Given the description of an element on the screen output the (x, y) to click on. 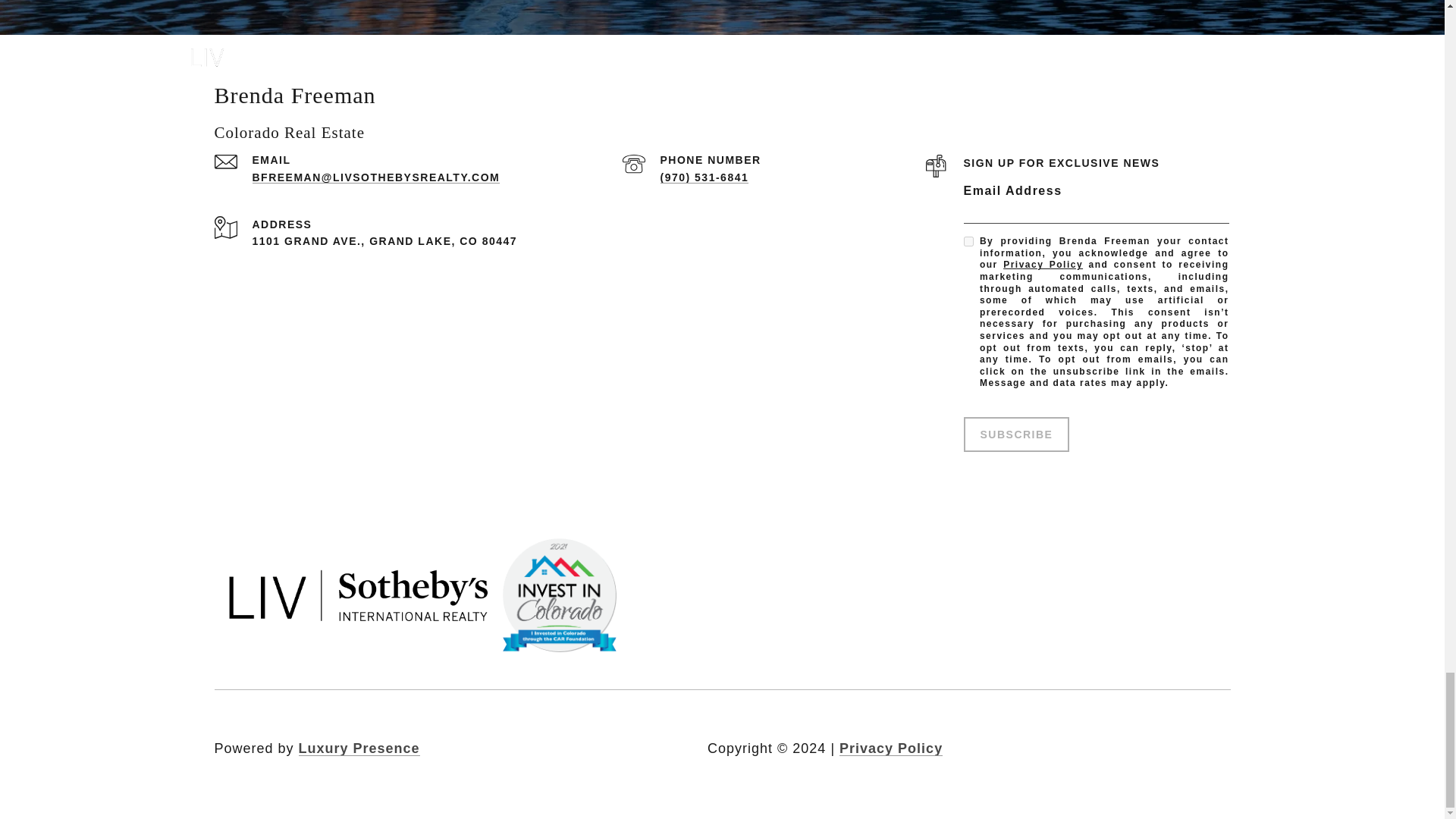
on (967, 241)
